Given the description of an element on the screen output the (x, y) to click on. 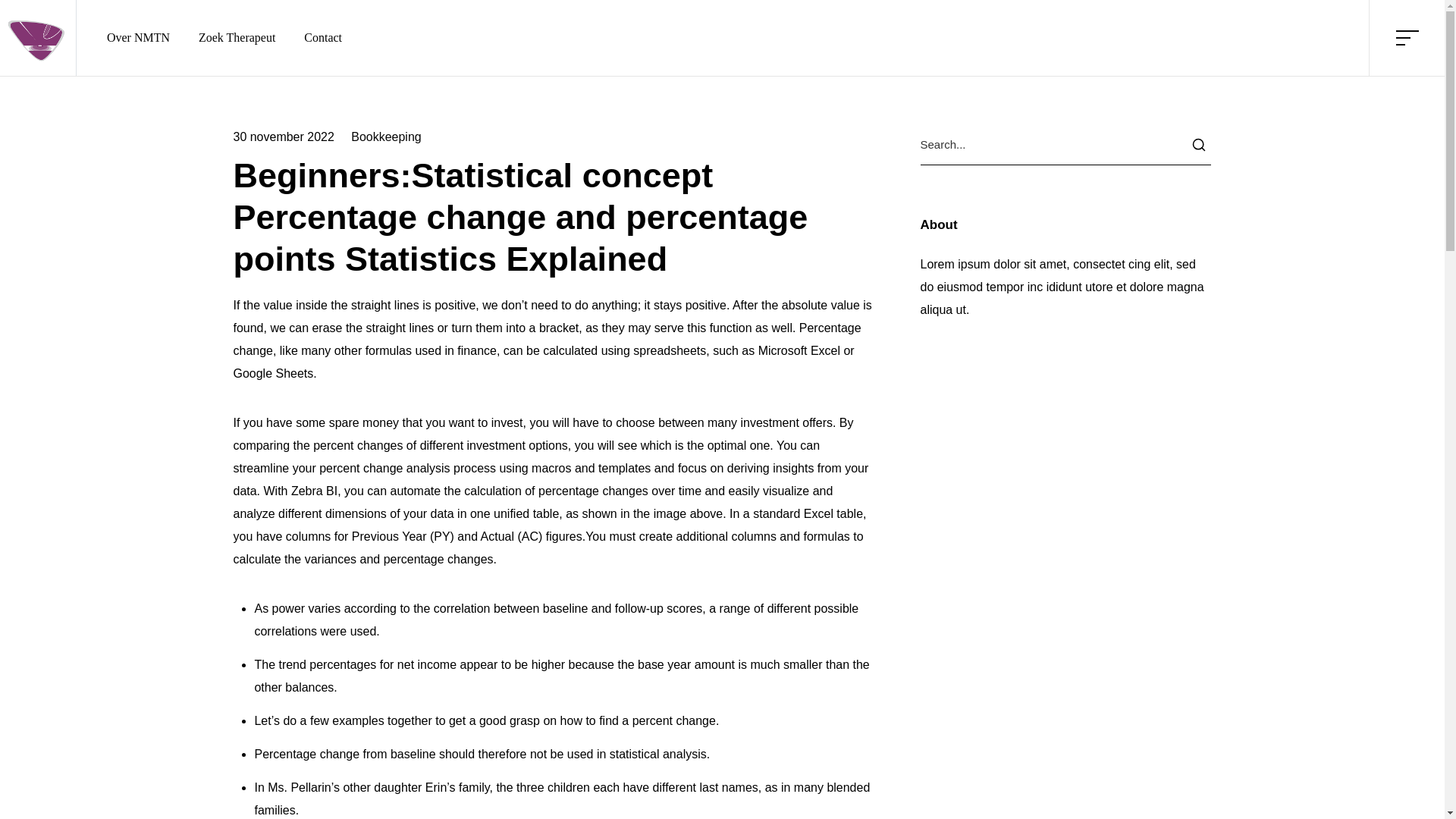
Over NMTN (138, 37)
Contact (323, 37)
Bookkeeping (385, 136)
Zoek Therapeut (236, 37)
